Given the description of an element on the screen output the (x, y) to click on. 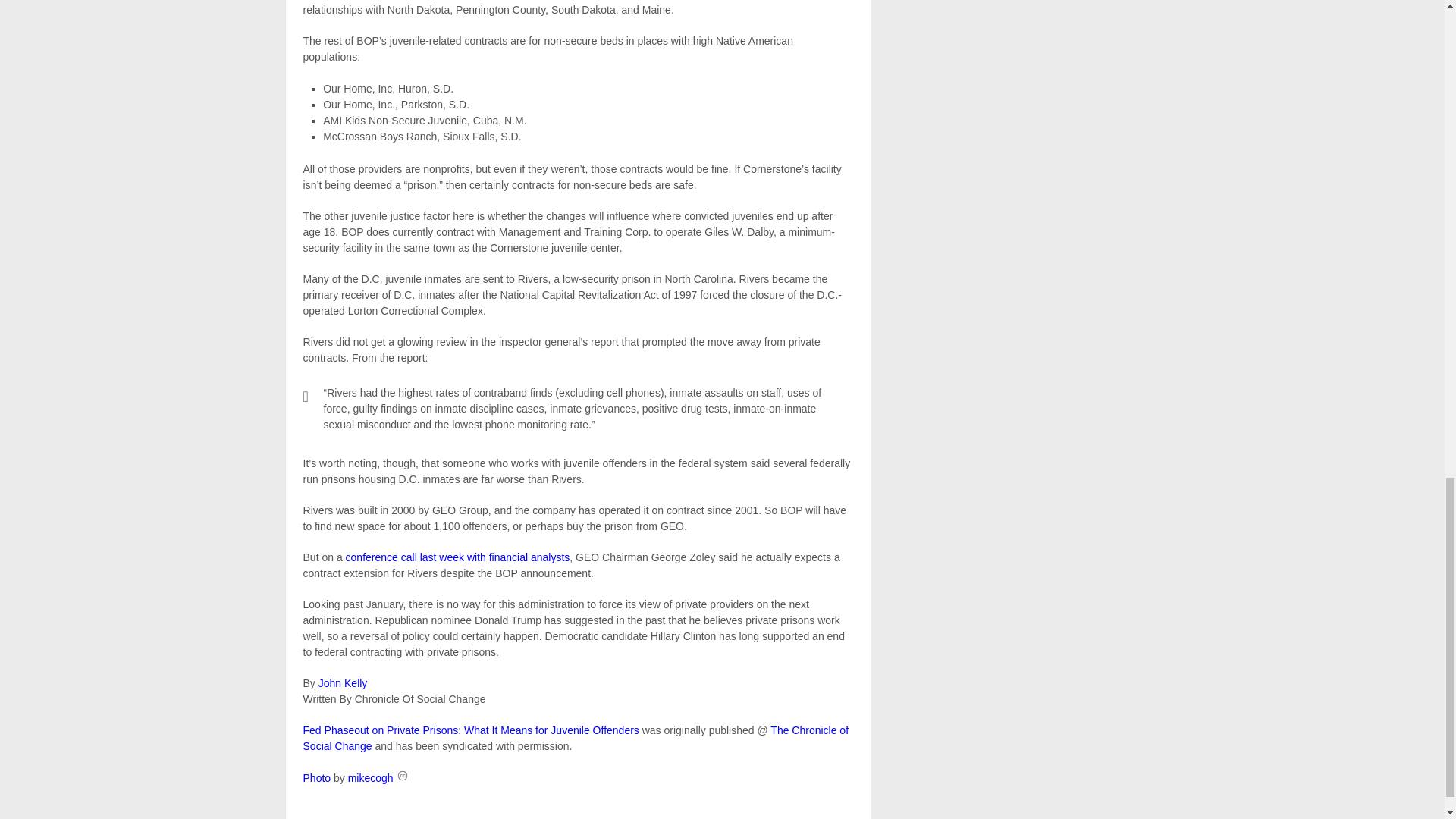
mikecogh (370, 777)
Fed (470, 729)
Photo (316, 777)
conference call last week with financial analysts (458, 557)
John Kelly (343, 683)
The Chronicle of Social Change (575, 737)
